Given the description of an element on the screen output the (x, y) to click on. 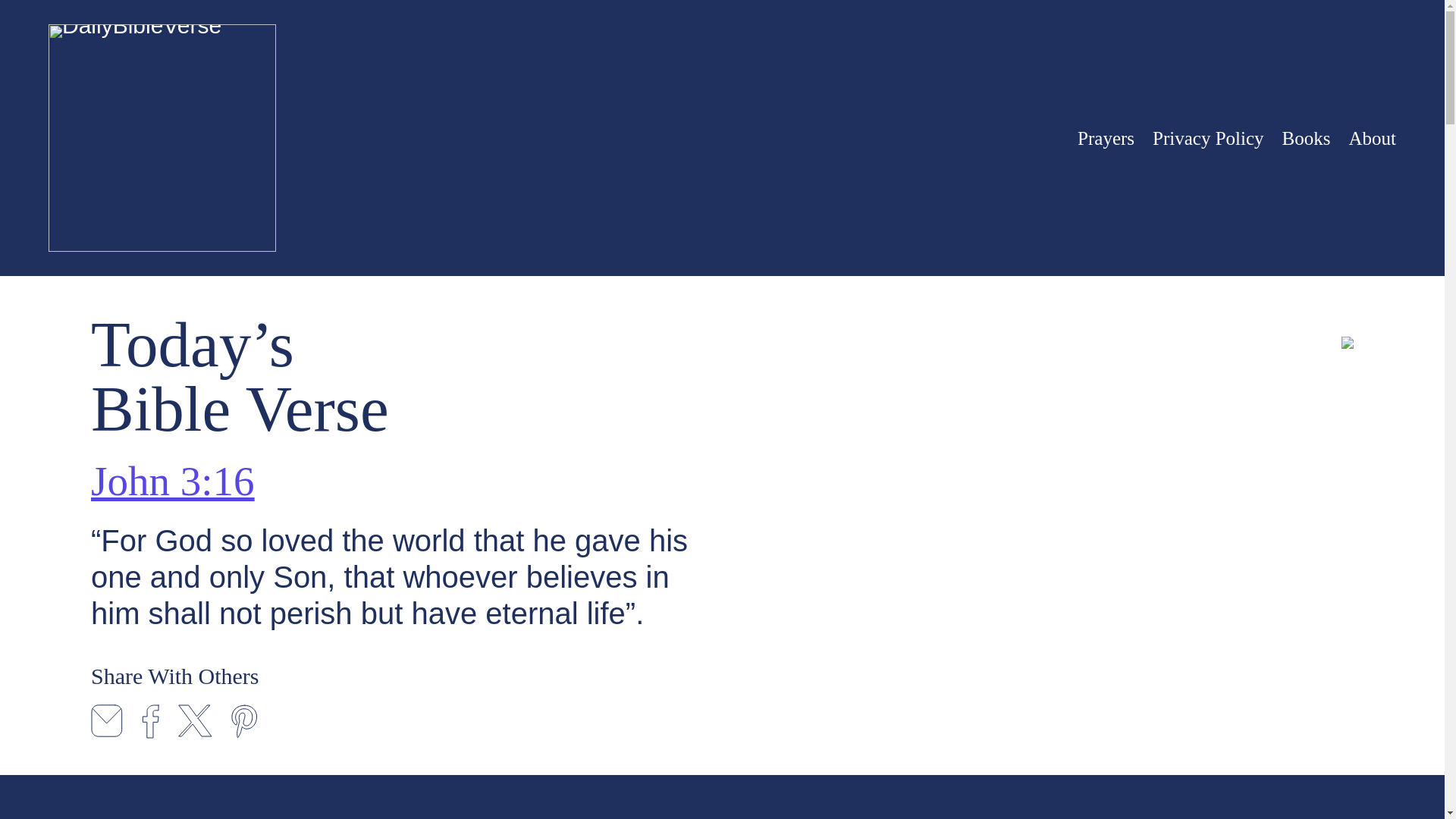
Prayers (1105, 137)
Books (1306, 137)
Privacy Policy (1208, 137)
John 3:16 (171, 480)
About (1372, 137)
